Given the description of an element on the screen output the (x, y) to click on. 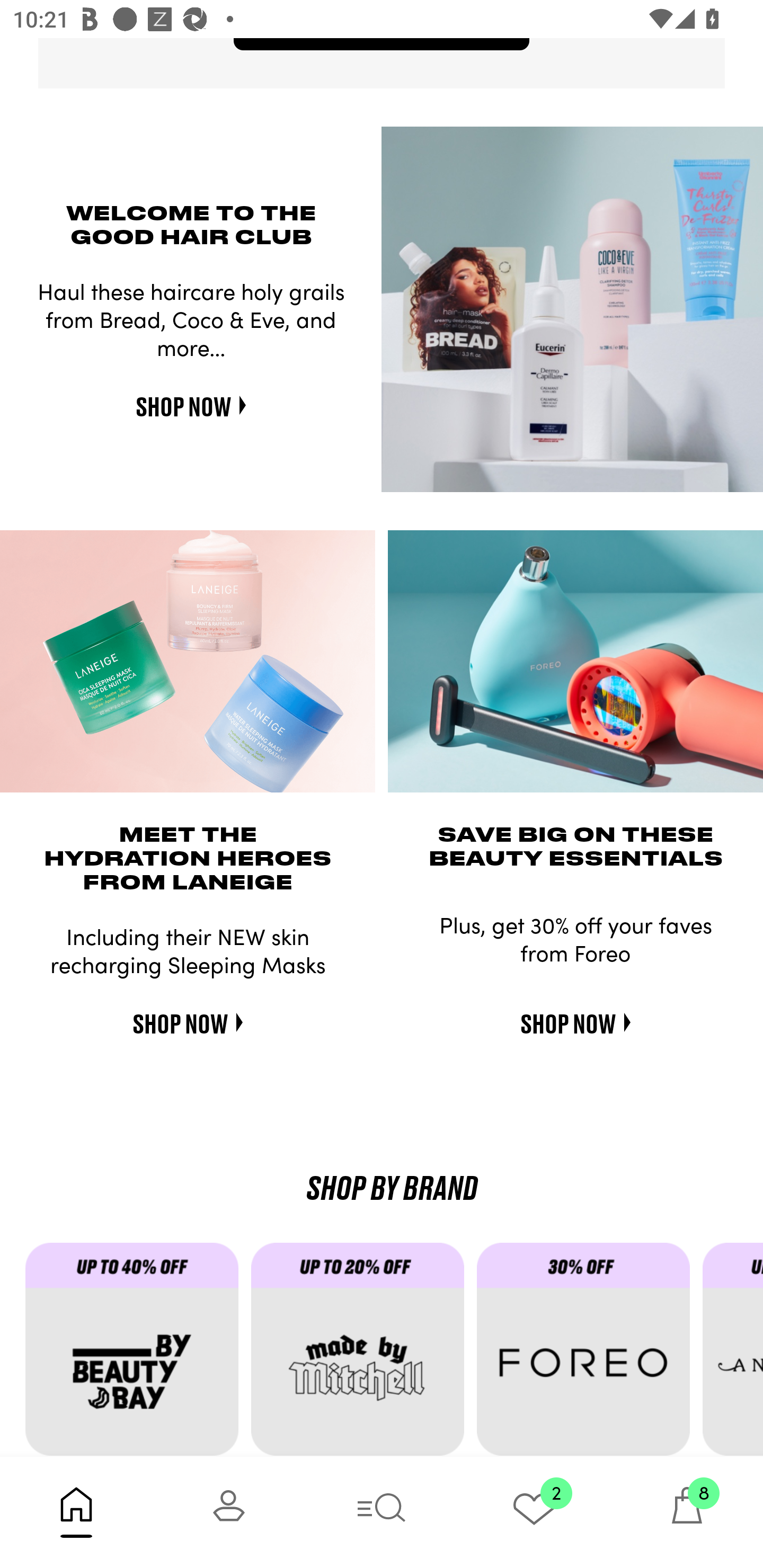
2 (533, 1512)
8 (686, 1512)
